Given the description of an element on the screen output the (x, y) to click on. 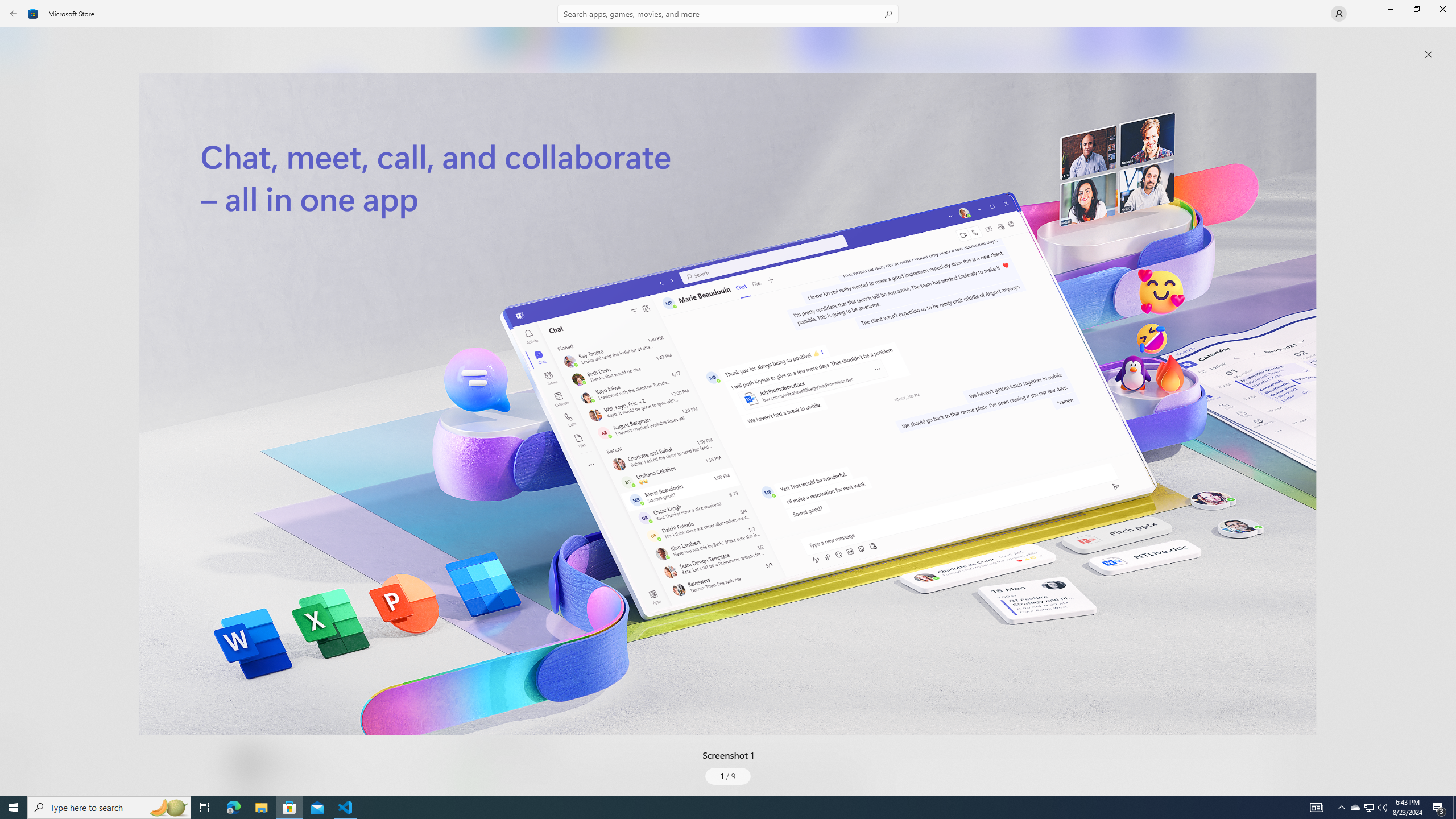
Age rating: EVERYONE. Click for more information. (287, 762)
Search (727, 13)
AutomationID: NavigationControl (728, 398)
Library (20, 773)
Screenshot 1 (727, 403)
close popup window (1428, 54)
Back (13, 13)
Restore Microsoft Store (1416, 9)
Minimize Microsoft Store (1390, 9)
Install (334, 244)
2.6 stars. Click to skip to ratings and reviews (307, 309)
Entertainment (20, 185)
Show all ratings and reviews (477, 527)
Home (20, 45)
Microsoft Corporation (383, 189)
